Given the description of an element on the screen output the (x, y) to click on. 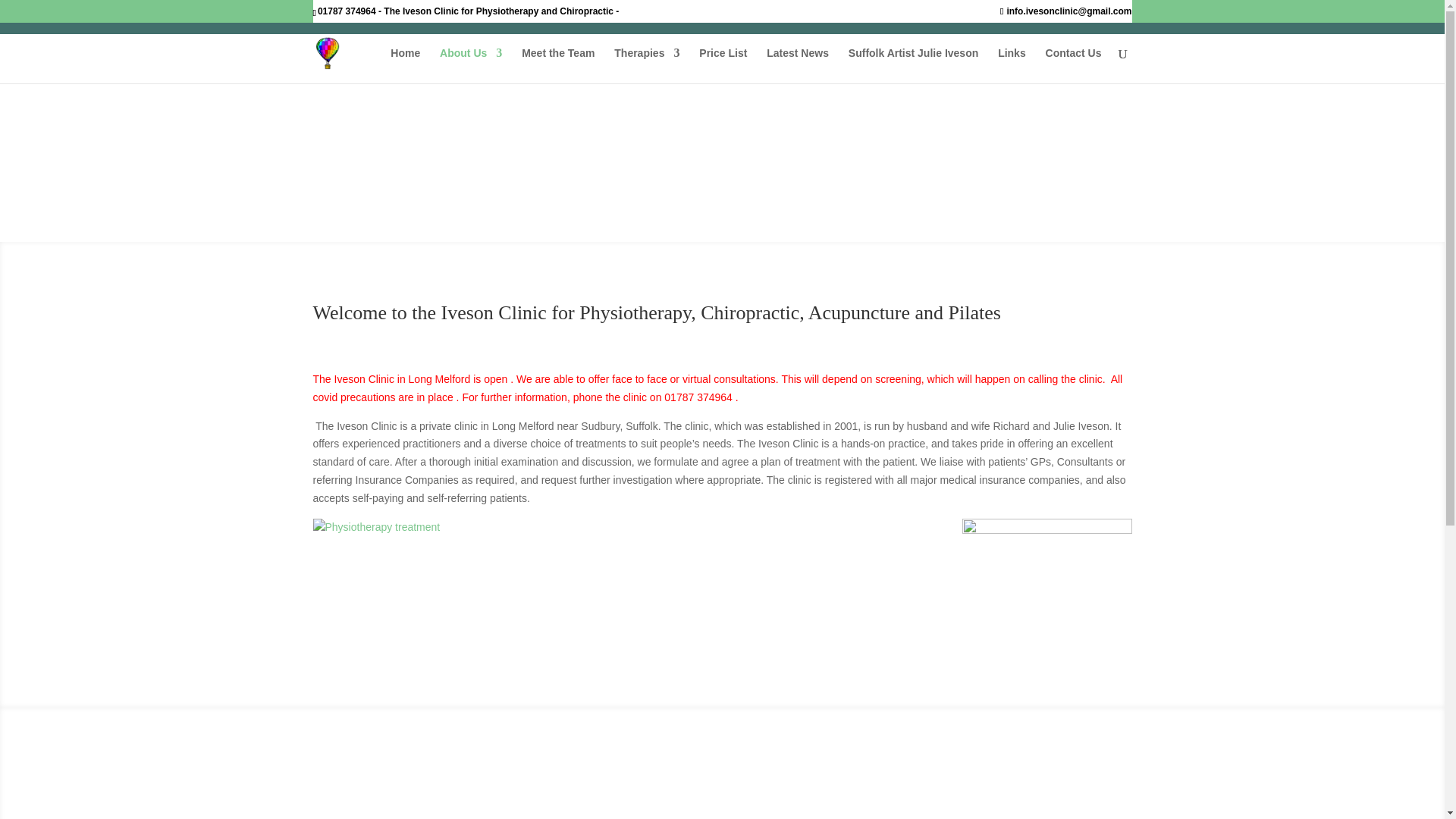
Suffolk Artist Julie Iveson (913, 65)
Meet the Team (557, 65)
About Us (470, 65)
Latest News (797, 65)
Therapies (646, 65)
Price List (722, 65)
Contact Us (1073, 65)
